Given the description of an element on the screen output the (x, y) to click on. 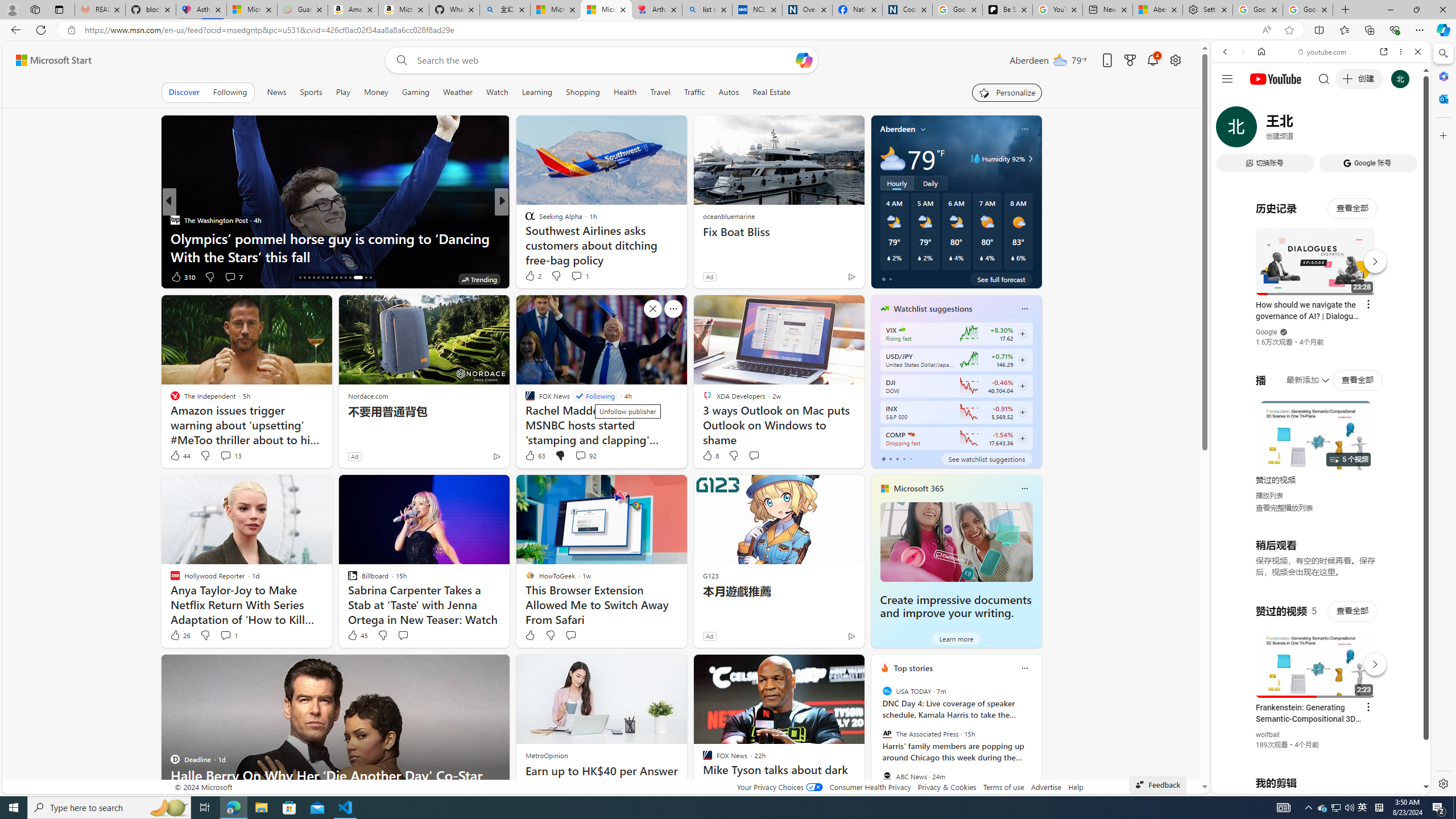
tab-1 (889, 458)
Learn more (956, 638)
Ad Choice (851, 635)
AutomationID: tab-23 (331, 277)
AutomationID: tab-21 (322, 277)
VIDEOS (1300, 130)
Watch (496, 92)
Open Copilot (803, 59)
